Given the description of an element on the screen output the (x, y) to click on. 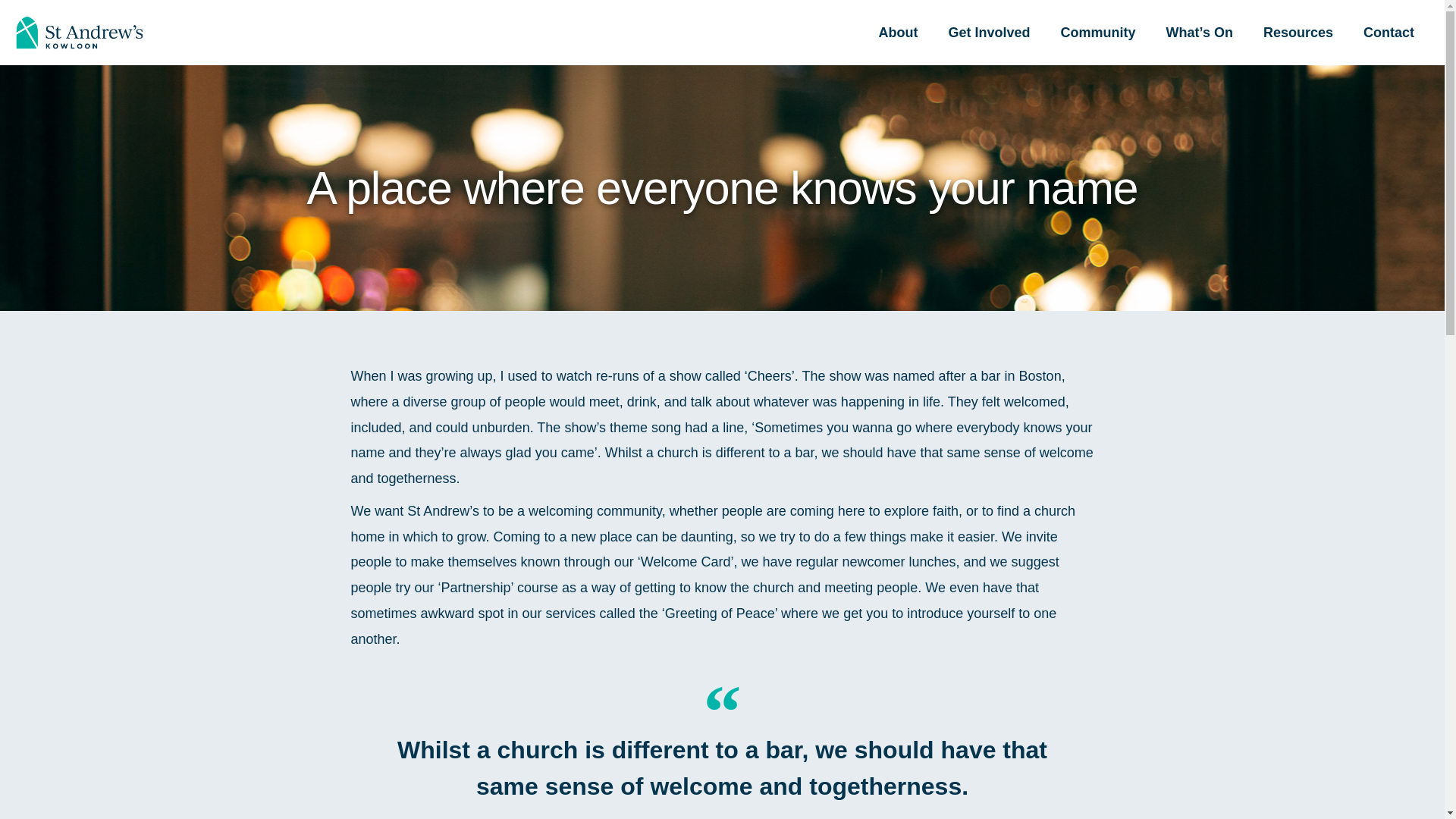
Resources (1297, 32)
About (898, 32)
Contact (1388, 32)
Community (1098, 32)
Get Involved (989, 32)
